Given the description of an element on the screen output the (x, y) to click on. 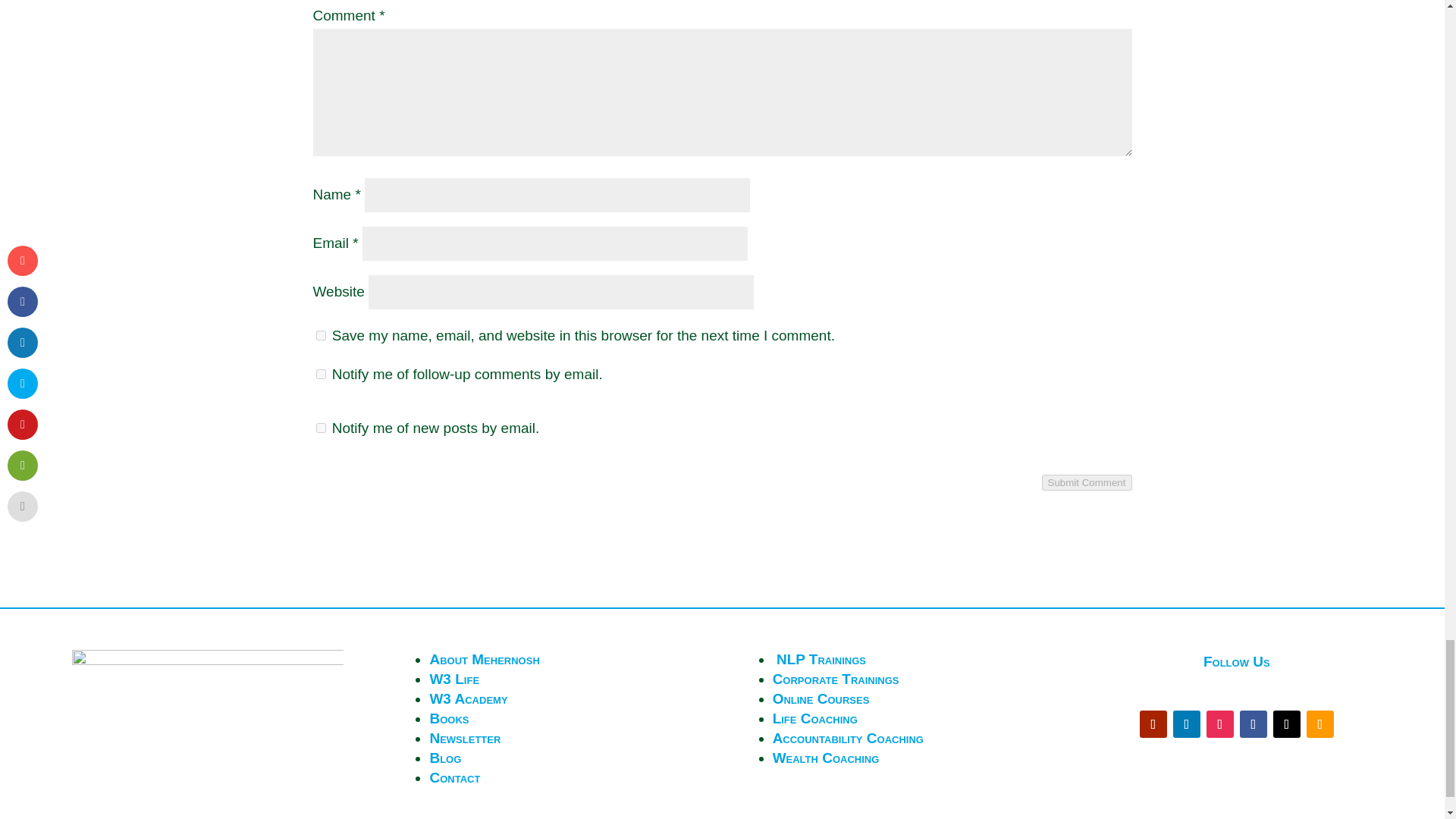
About W3 Academy (467, 698)
subscribe (319, 374)
subscribe (319, 428)
About W3 Life (454, 678)
About Mehernosh (483, 659)
About Mehernosh (483, 659)
yes (319, 335)
Contact (454, 777)
Blog (445, 757)
Books (448, 718)
NLP Trainings (821, 659)
Submit Comment (1087, 482)
Newsletter (464, 738)
W3 logo (207, 695)
W3 Life (454, 678)
